Given the description of an element on the screen output the (x, y) to click on. 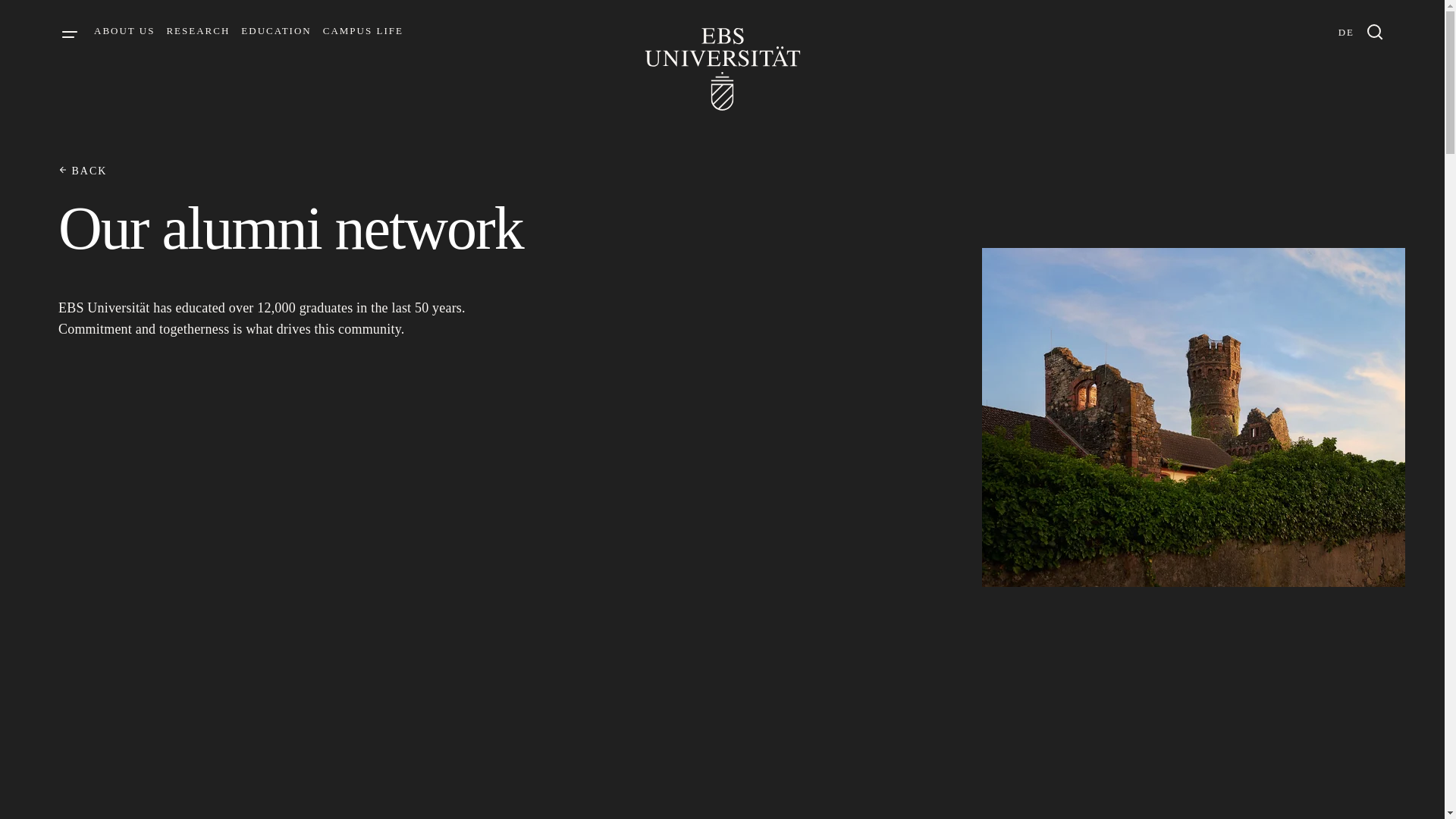
ABOUT US (124, 30)
RESEARCH (197, 30)
CAMPUS LIFE (363, 30)
EDUCATION (276, 30)
